Given the description of an element on the screen output the (x, y) to click on. 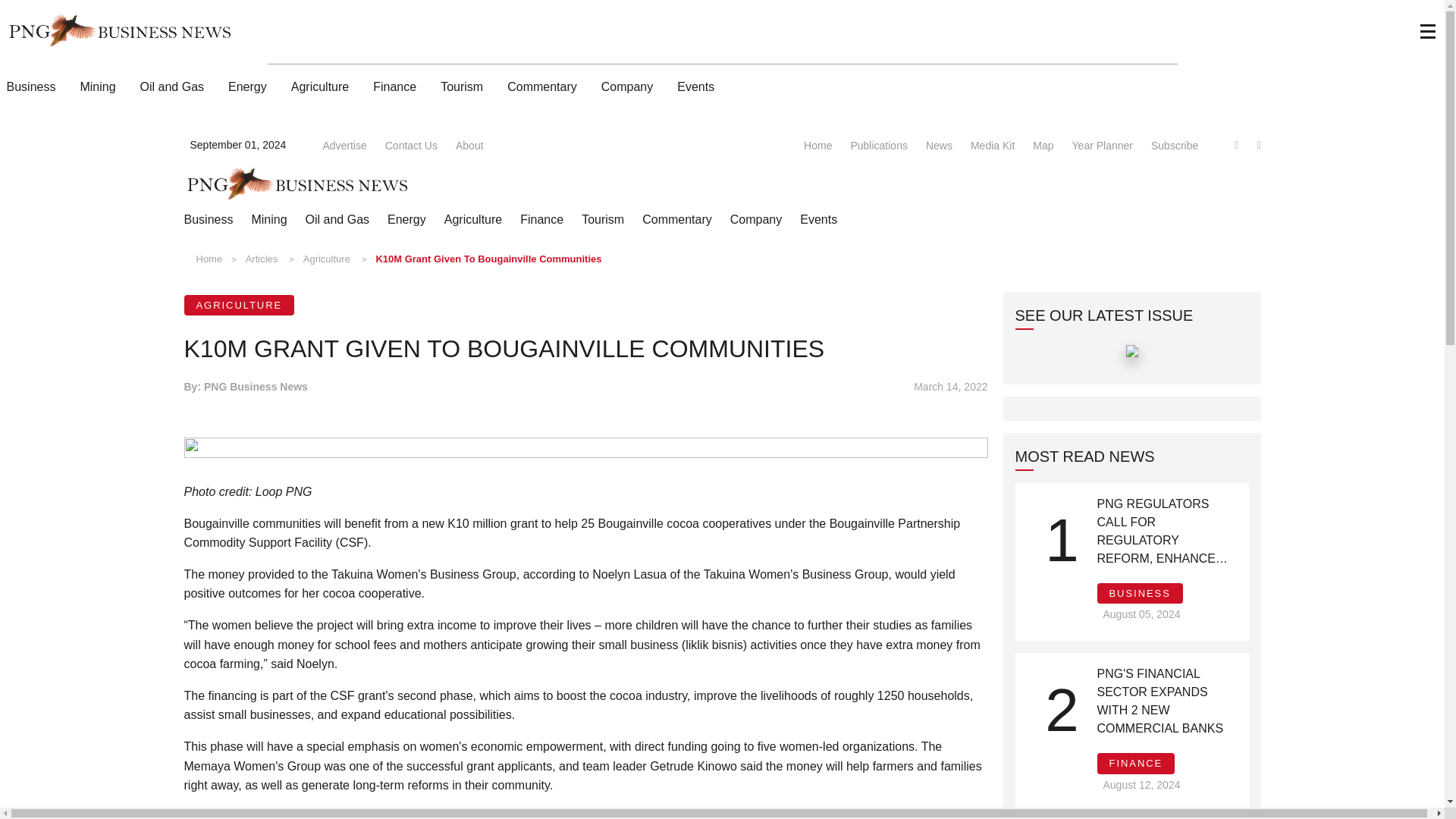
Subscribe (1174, 144)
Mining (268, 220)
Energy (406, 220)
Finance (394, 86)
Agriculture (473, 220)
Year Planner (1101, 144)
Company (627, 86)
Business (207, 220)
Events (818, 220)
Commentary (676, 220)
